Given the description of an element on the screen output the (x, y) to click on. 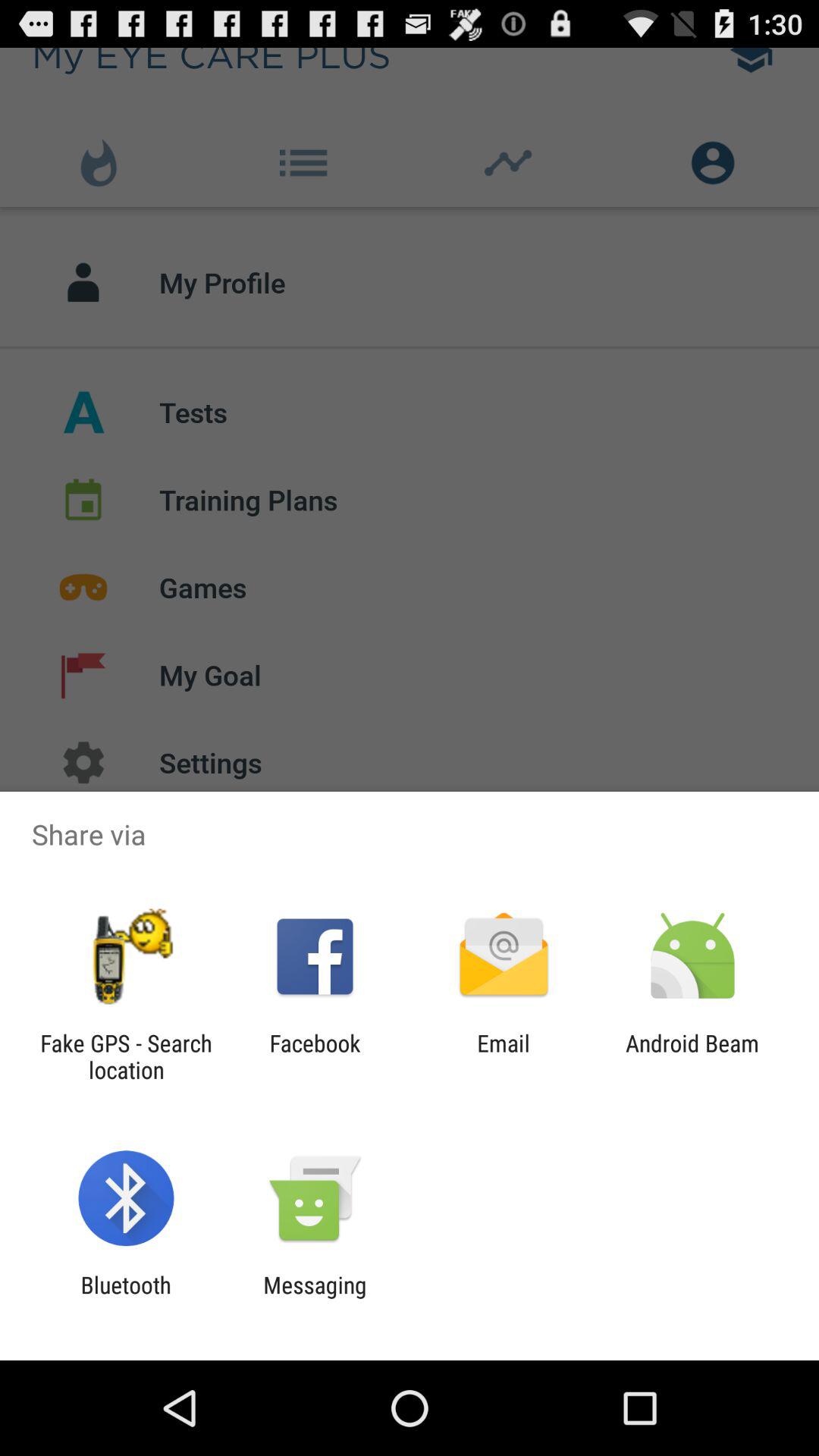
choose email item (503, 1056)
